Given the description of an element on the screen output the (x, y) to click on. 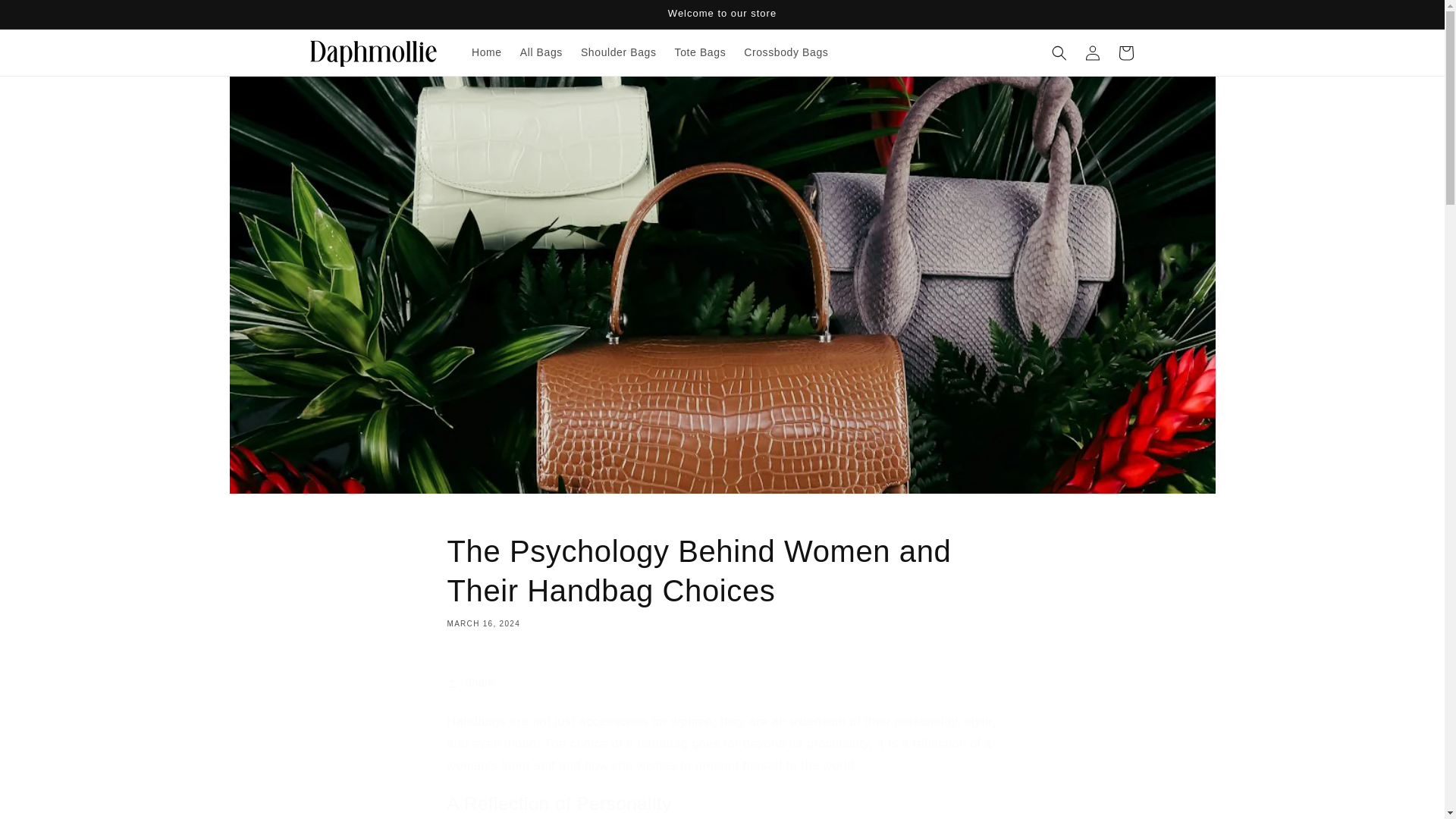
Cart (1124, 52)
Skip to content (45, 17)
Log in (1091, 52)
Tote Bags (700, 51)
Share (721, 683)
Home (487, 51)
Shoulder Bags (618, 51)
Crossbody Bags (786, 51)
All Bags (541, 51)
